Given the description of an element on the screen output the (x, y) to click on. 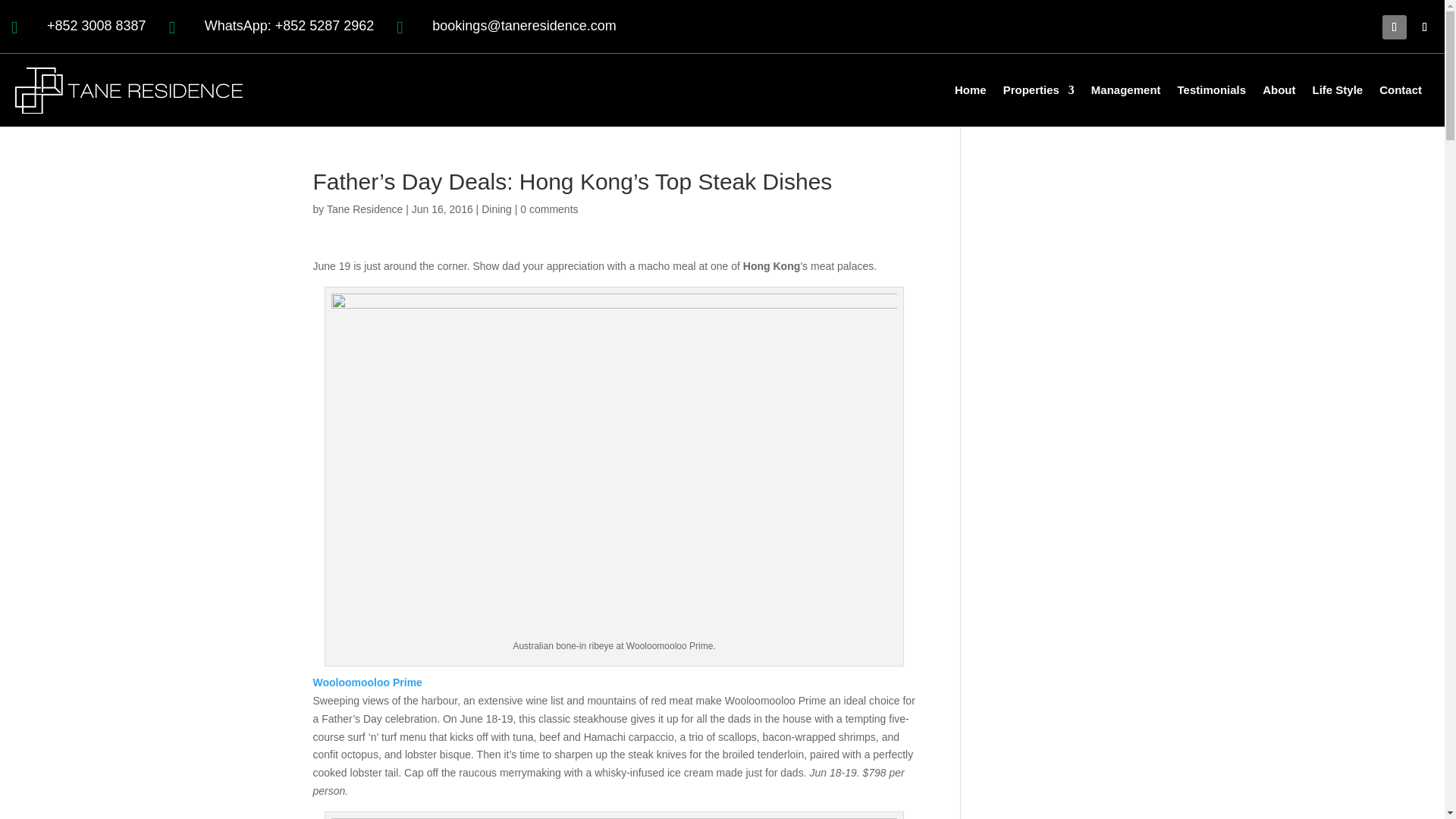
Dining (496, 209)
Follow on Facebook (1393, 27)
Posts by Tane Residence (364, 209)
Follow on X (1424, 27)
Properties (1038, 89)
Testimonials (1211, 89)
Management (1125, 89)
Wooloomooloo Prime (367, 682)
0 comments (548, 209)
Tane Residence (364, 209)
